Given the description of an element on the screen output the (x, y) to click on. 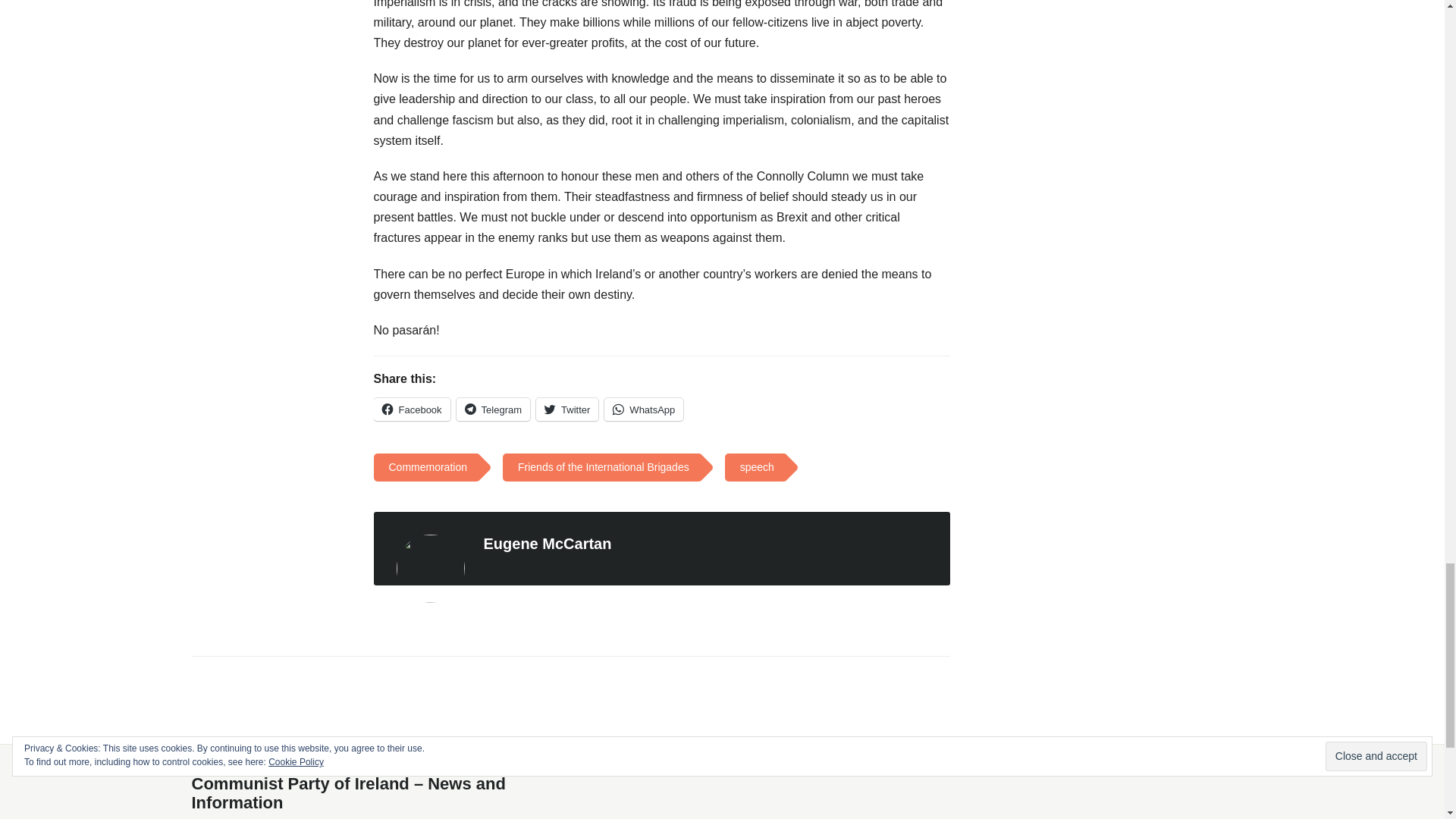
Posts by Eugene McCartan (547, 543)
Click to share on Telegram (493, 409)
Click to share on WhatsApp (643, 409)
Click to share on Twitter (566, 409)
Click to share on Facebook (410, 409)
